Given the description of an element on the screen output the (x, y) to click on. 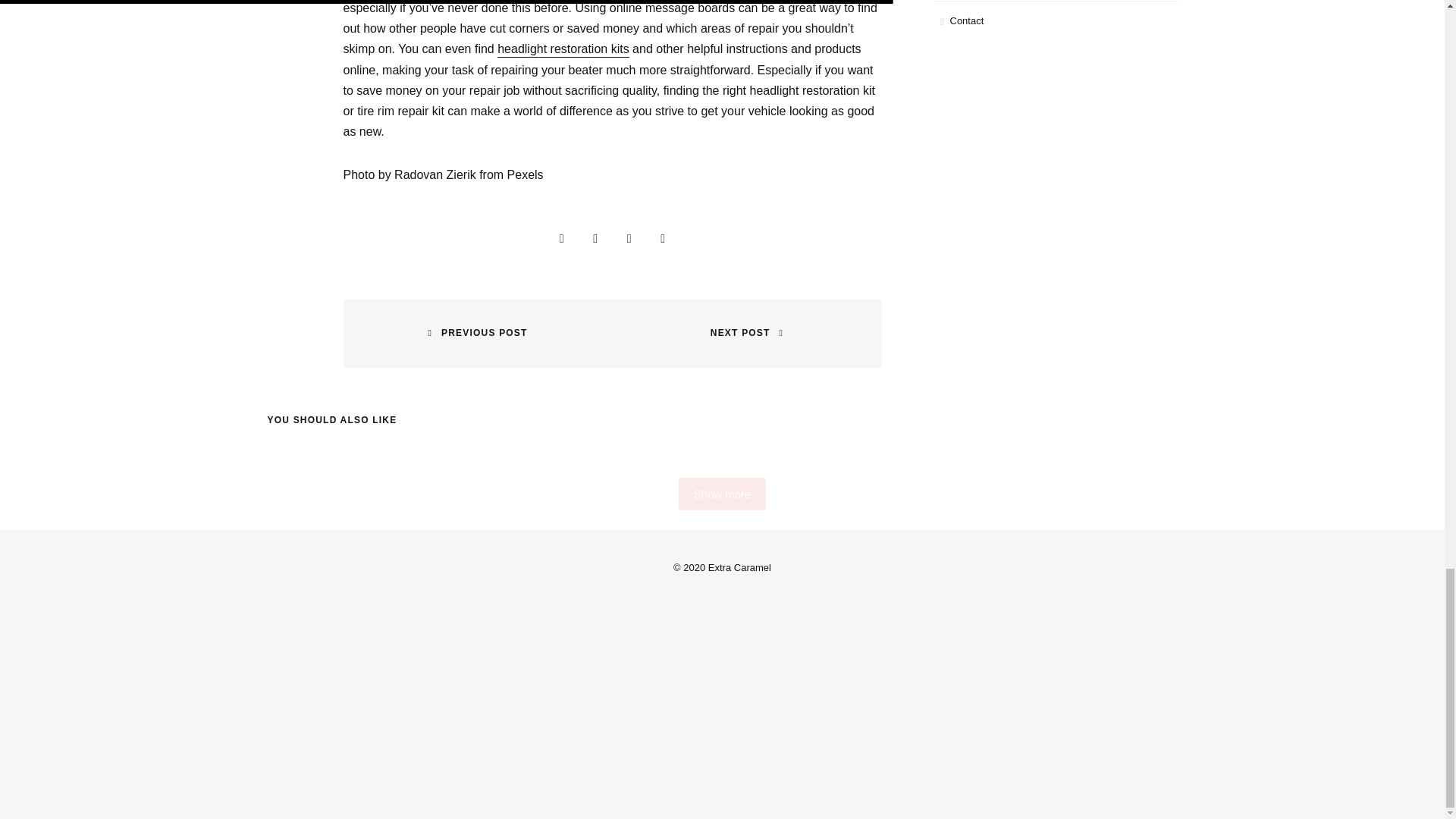
Twitter (629, 238)
Facebook (594, 238)
Pinterest (662, 238)
